Given the description of an element on the screen output the (x, y) to click on. 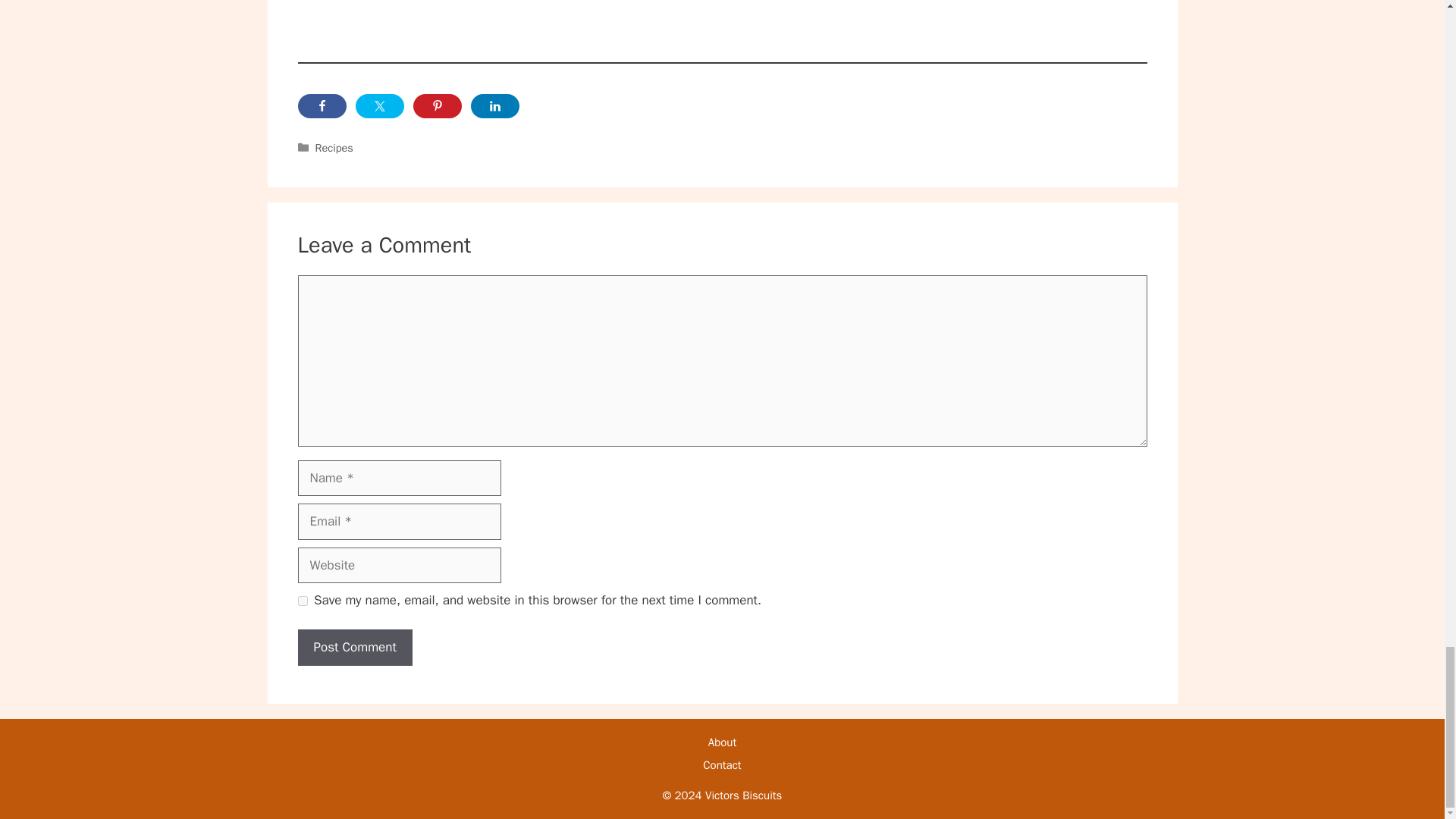
Share on Facebook (321, 105)
Post Comment (354, 647)
Recipes (334, 147)
About (721, 742)
Share on LinkedIn (494, 105)
Contact (722, 765)
Share on Twitter (379, 105)
Post Comment (354, 647)
yes (302, 601)
Share on Pinterest (436, 105)
